Given the description of an element on the screen output the (x, y) to click on. 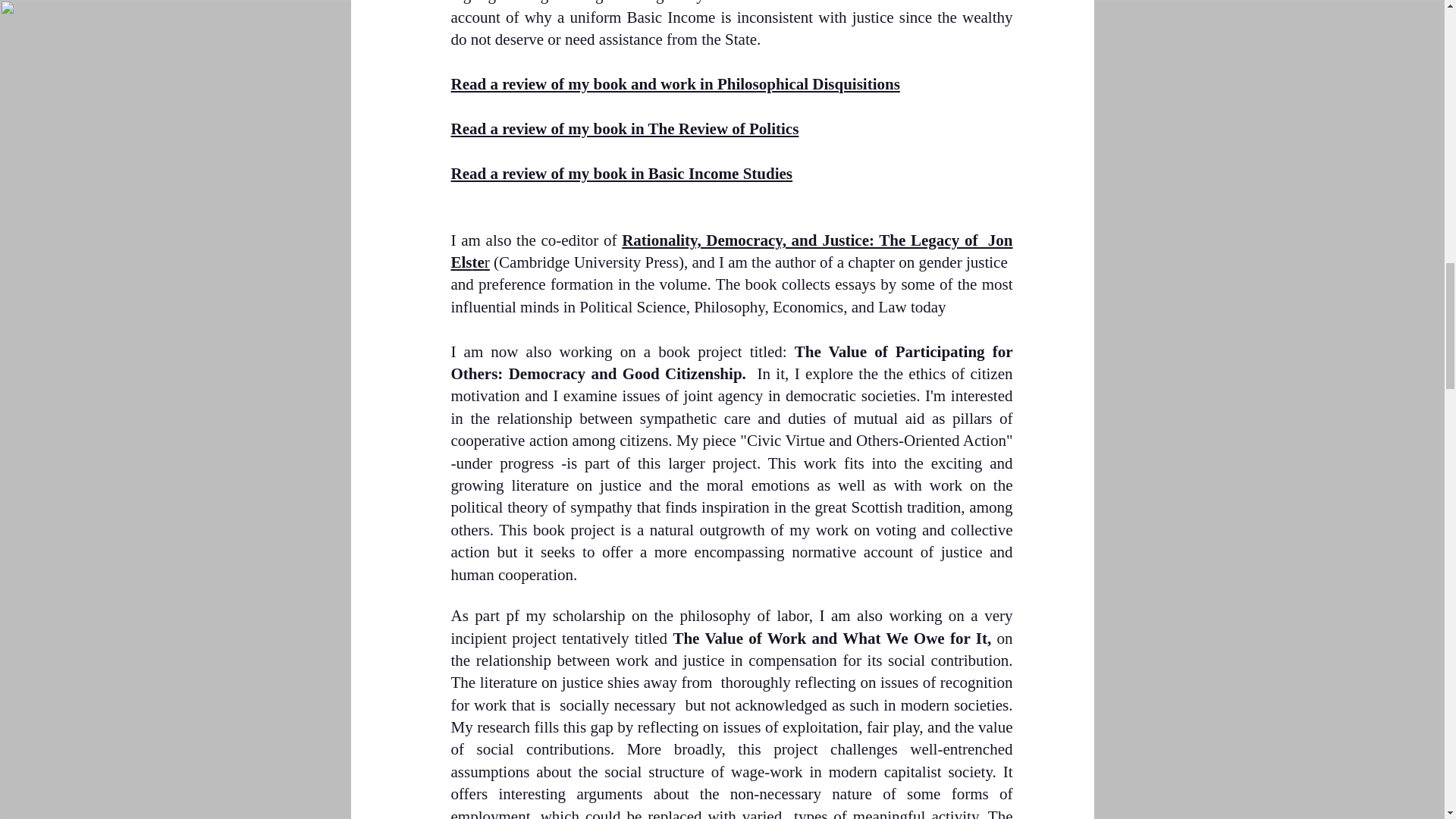
Read a review of my book in Basic Income Studies (620, 173)
Read a review of my book in The Review of Politics (623, 128)
